Given the description of an element on the screen output the (x, y) to click on. 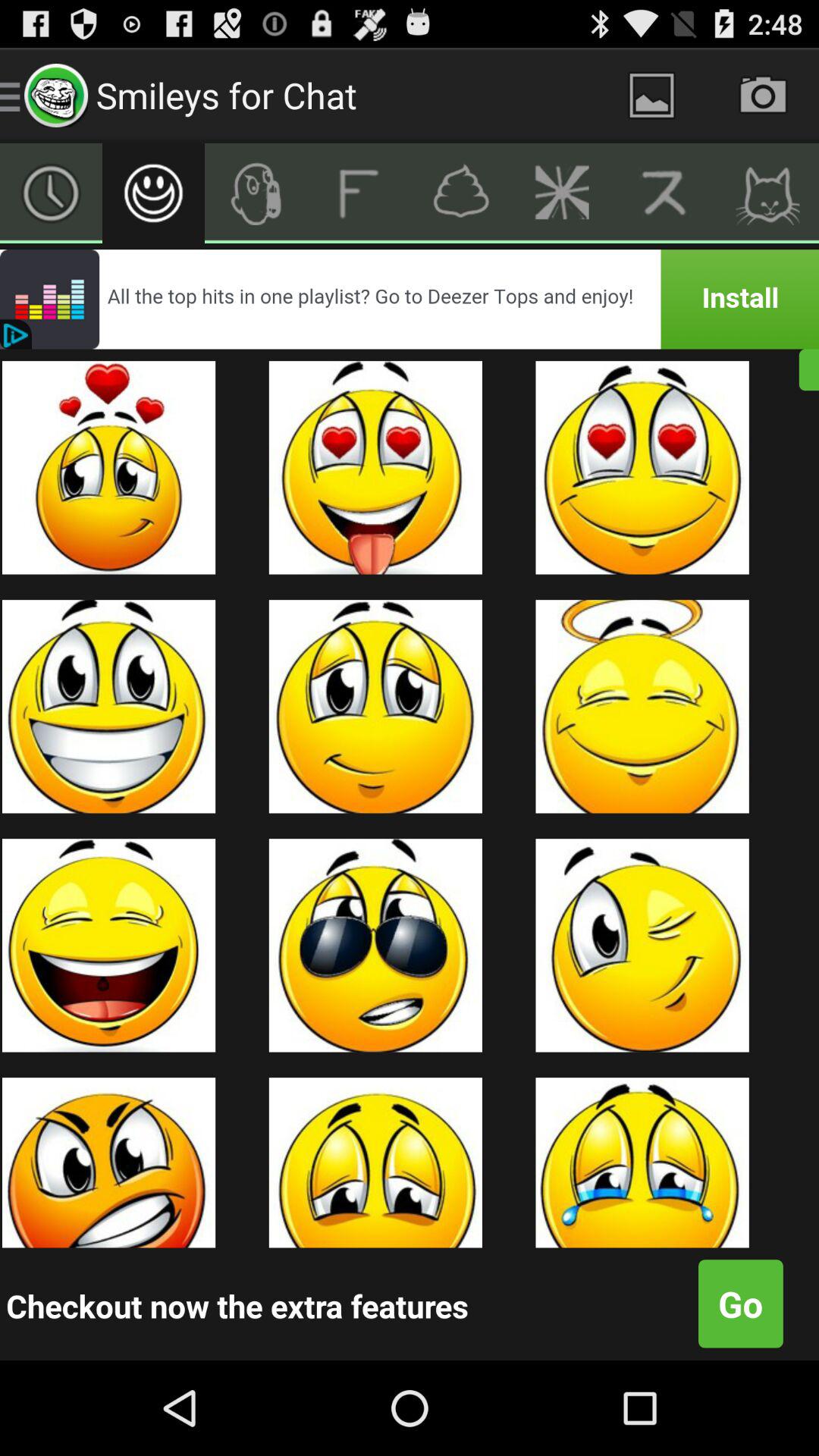
photo (763, 95)
